Given the description of an element on the screen output the (x, y) to click on. 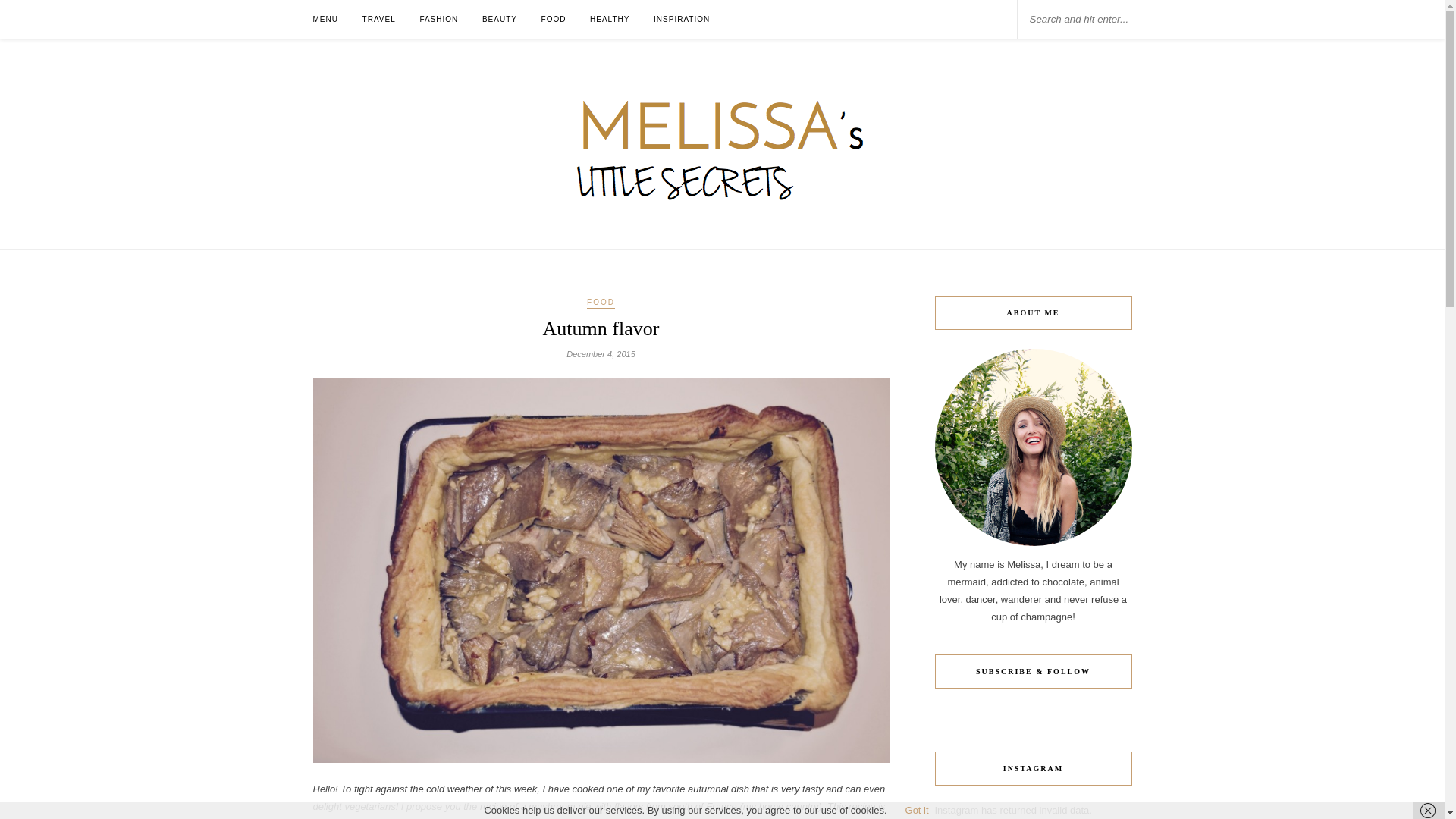
INSPIRATION (681, 19)
View all posts in Food (600, 303)
FOOD (600, 303)
BEAUTY (498, 19)
FASHION (438, 19)
HEALTHY (608, 19)
